Given the description of an element on the screen output the (x, y) to click on. 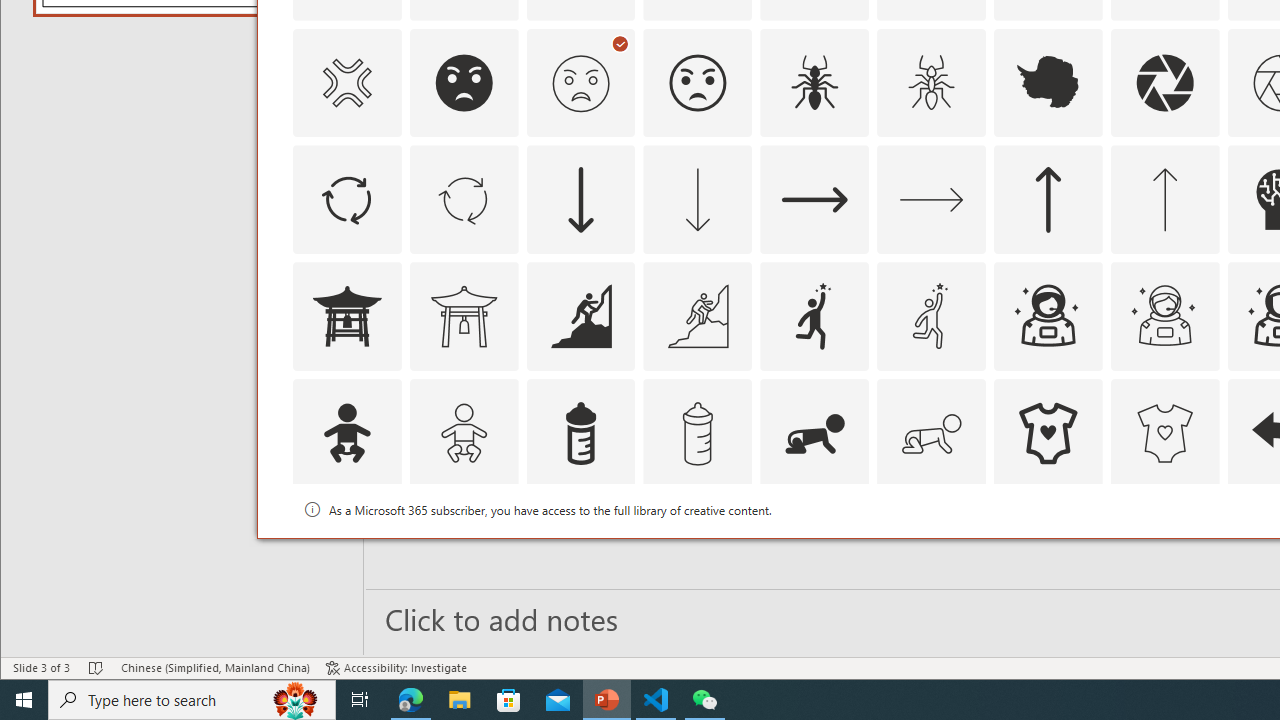
AutomationID: Icons_Baby_M (463, 434)
AutomationID: Icons_Badge3_M (815, 550)
AutomationID: Icons_ArrowDown (580, 200)
AutomationID: Icons_Ant (815, 82)
AutomationID: Icons_BabyOnesie (1048, 434)
AutomationID: Icons_BabyOnesie_M (1164, 434)
